Given the description of an element on the screen output the (x, y) to click on. 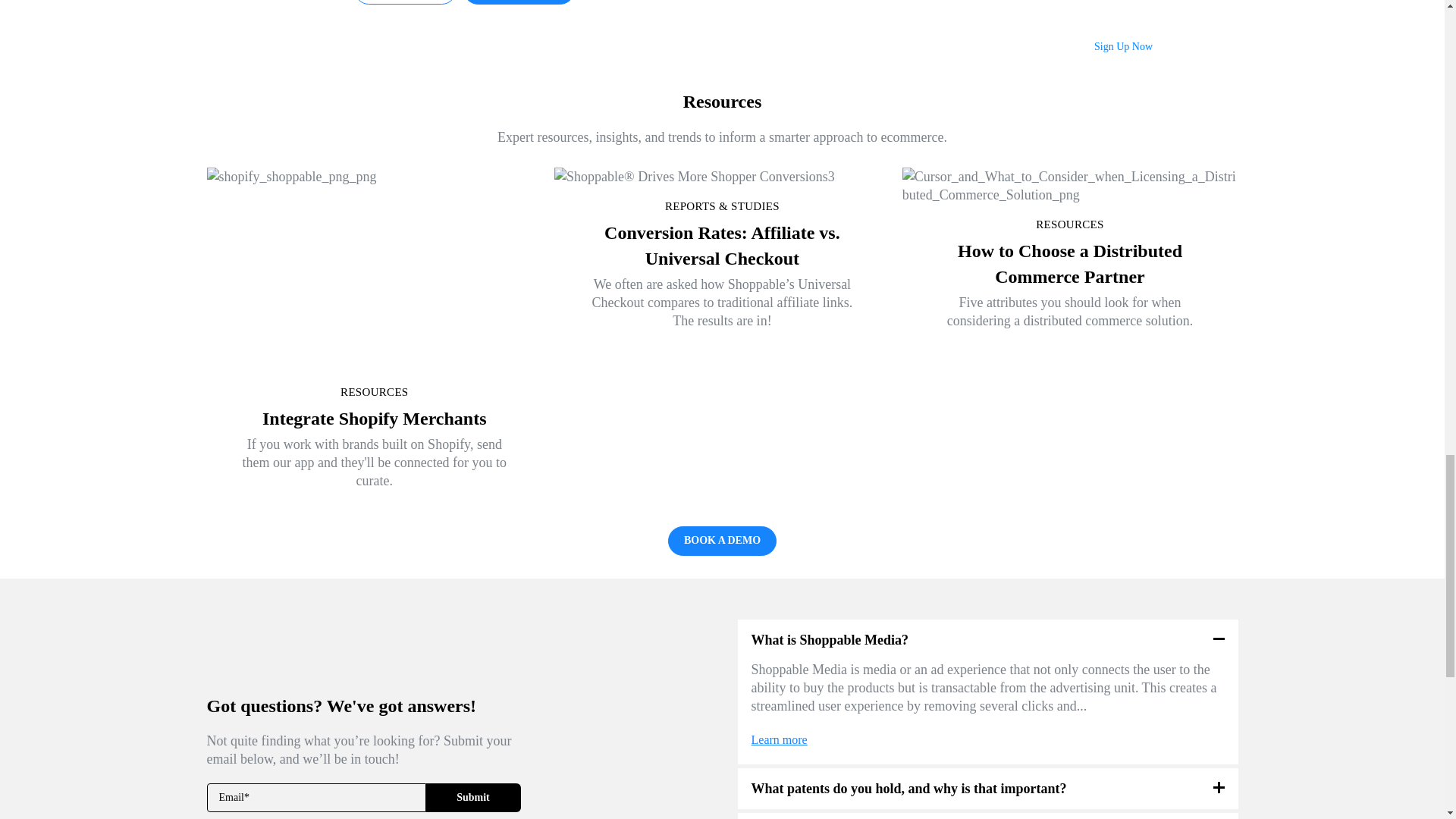
Submit (473, 797)
BOOK A DEMO (722, 541)
Developer Docs (405, 2)
